Given the description of an element on the screen output the (x, y) to click on. 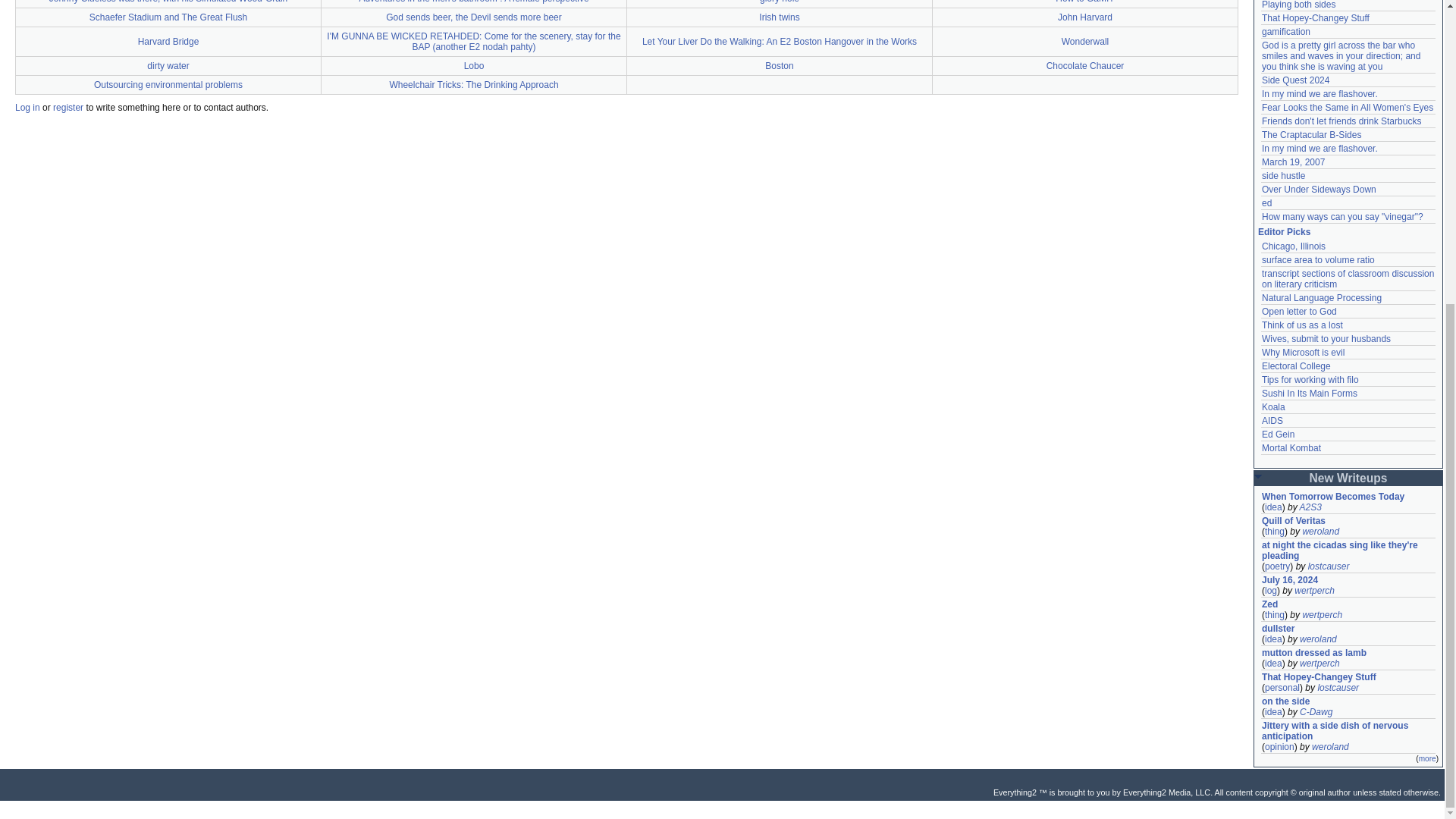
God sends beer, the Devil sends more beer (472, 17)
Adventures in the men's bathroom : A female perspective (473, 2)
Schaefer Stadium and The Great Flush (167, 17)
glory hole (779, 2)
How to GaMIT (1084, 2)
Johnny Clueless was there, with his Simulated Wood-Grain (168, 2)
